Given the description of an element on the screen output the (x, y) to click on. 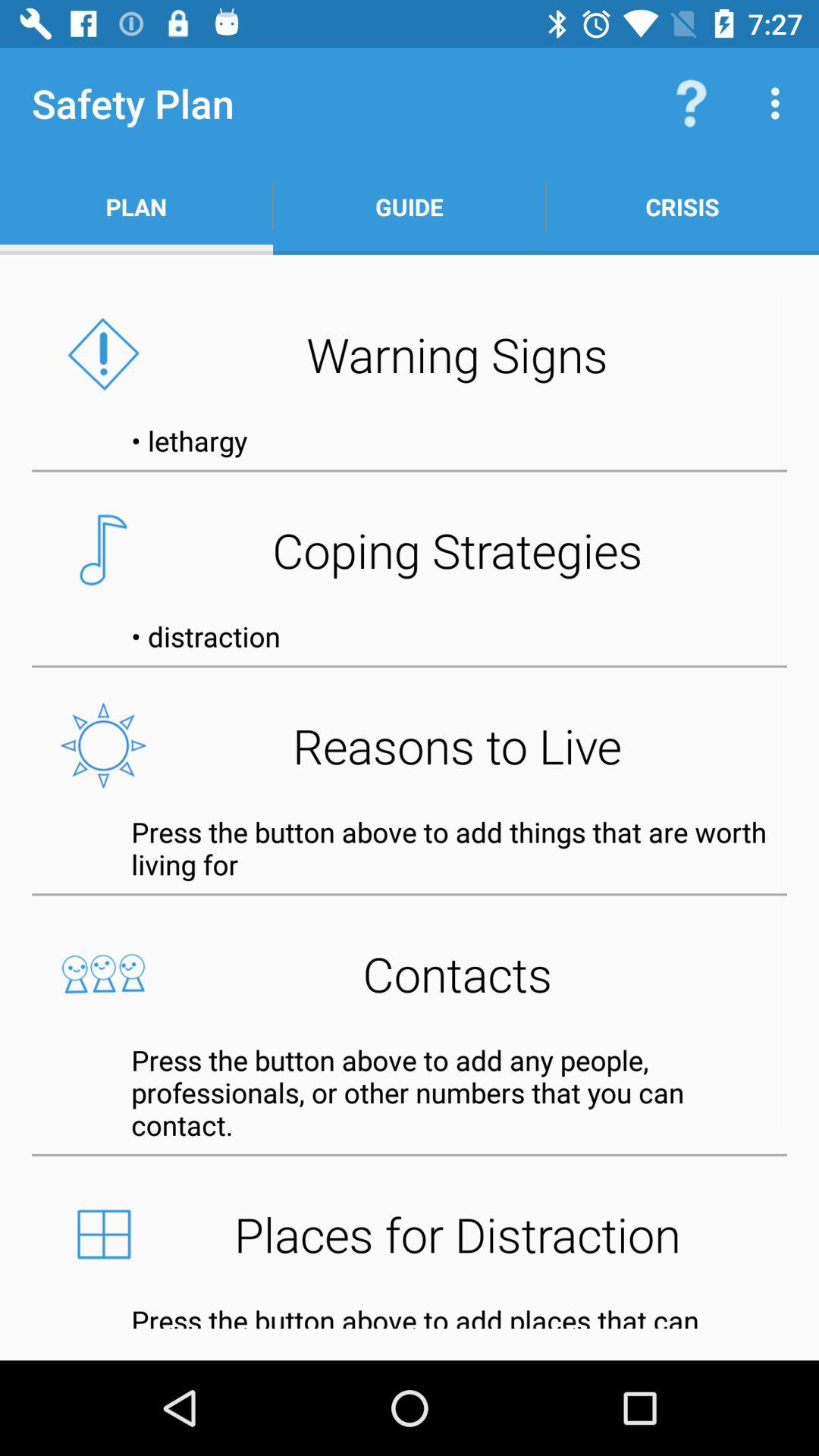
click the icon to the right of guide app (691, 103)
